Given the description of an element on the screen output the (x, y) to click on. 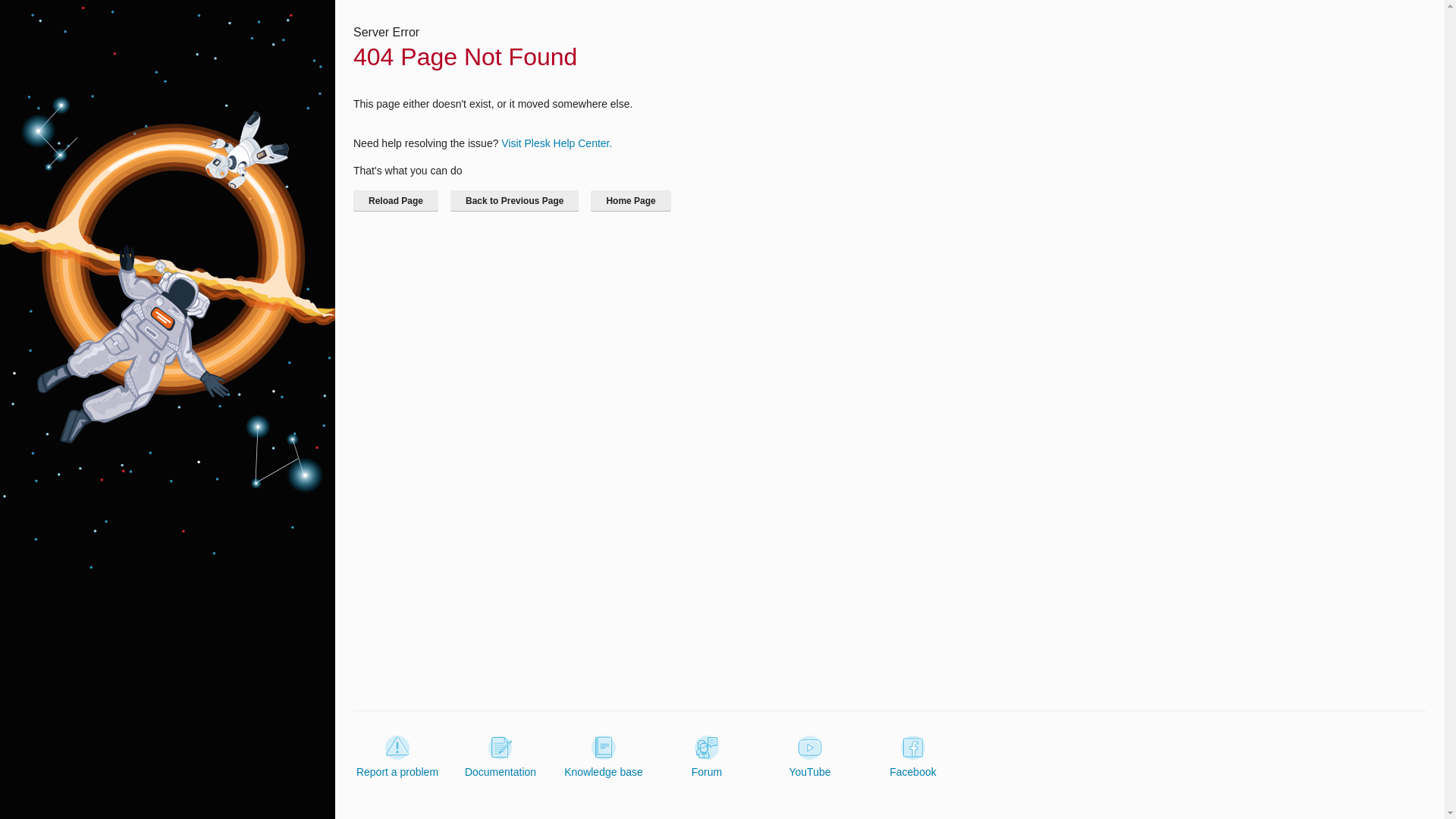
Documentation (500, 757)
Back to Previous Page (513, 200)
Visit Plesk Help Center. (555, 143)
Forum (706, 757)
Home Page (630, 200)
Report a problem (397, 757)
Reload Page (395, 200)
Knowledge base (603, 757)
YouTube (809, 757)
Facebook (912, 757)
